Given the description of an element on the screen output the (x, y) to click on. 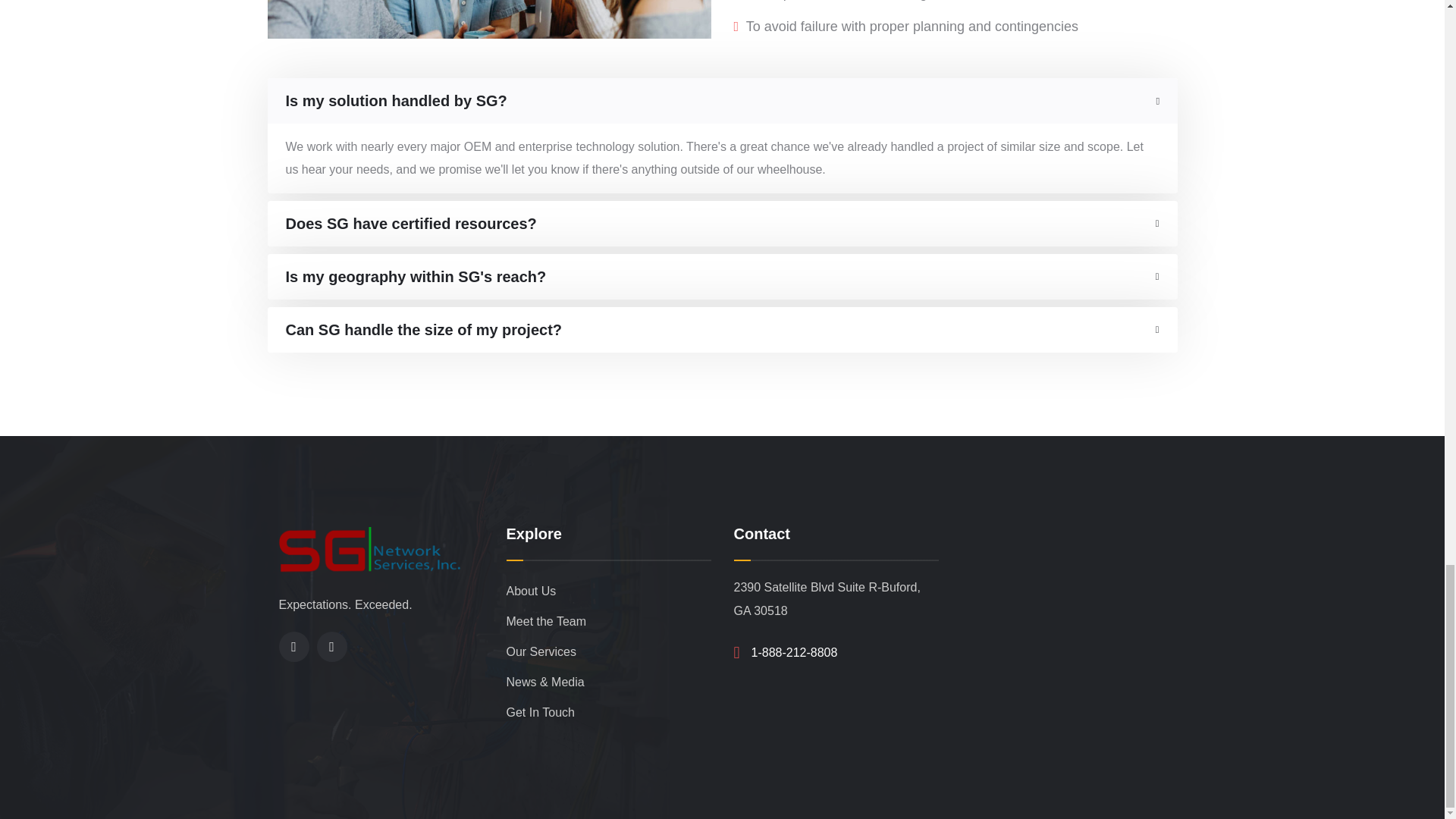
1-888-212-8808 (794, 652)
Our Services (608, 652)
Meet the Team (608, 621)
About Us (608, 591)
Get In Touch (608, 712)
